Given the description of an element on the screen output the (x, y) to click on. 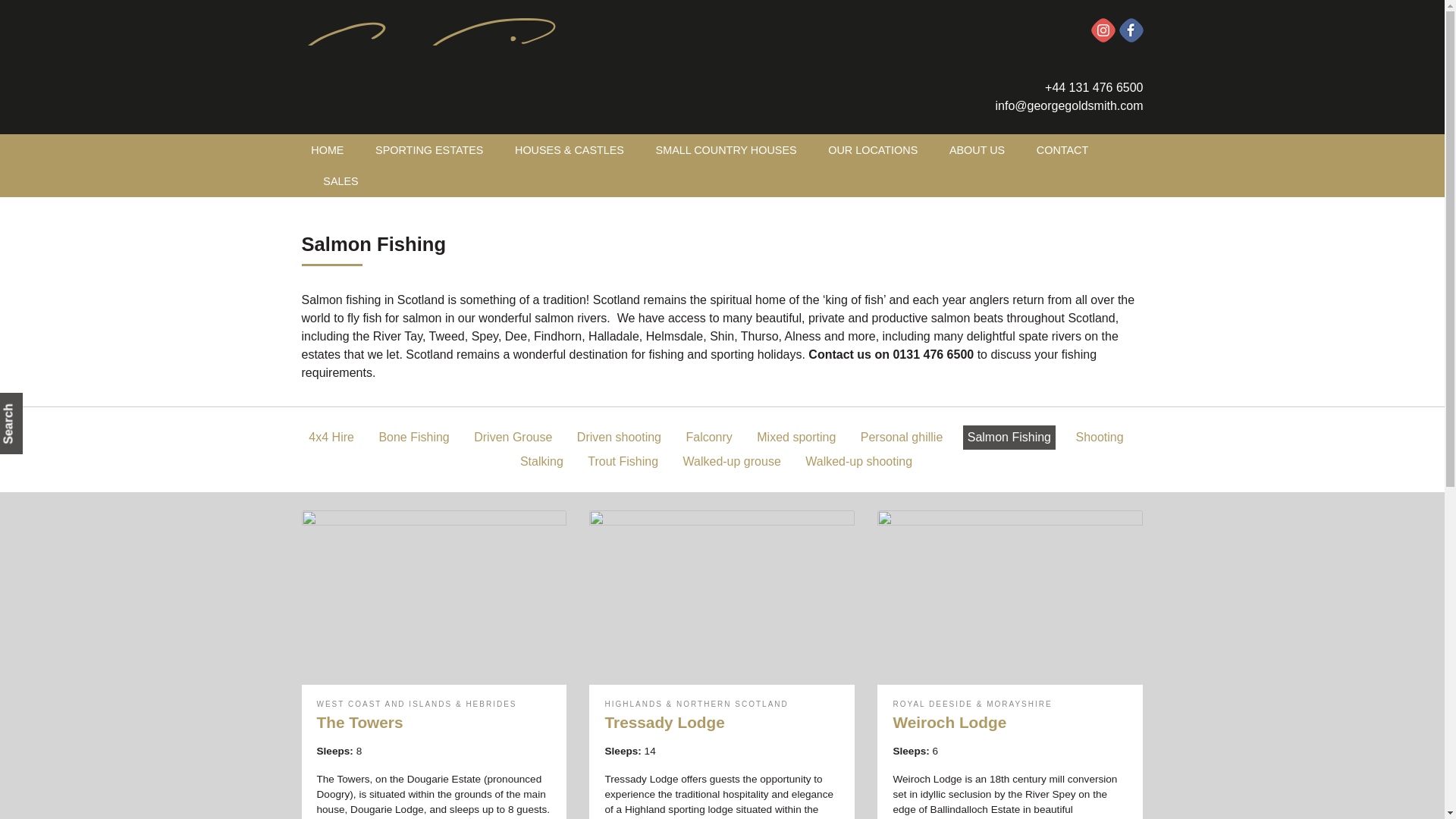
SPORTING ESTATES (429, 150)
ABOUT US (976, 150)
Contact (1061, 150)
Our locations (872, 150)
About us (976, 150)
SMALL COUNTRY HOUSES (726, 150)
Sales (341, 182)
OUR LOCATIONS (872, 150)
Small country houses (726, 150)
View all items in 4x4 Hire (331, 437)
